Given the description of an element on the screen output the (x, y) to click on. 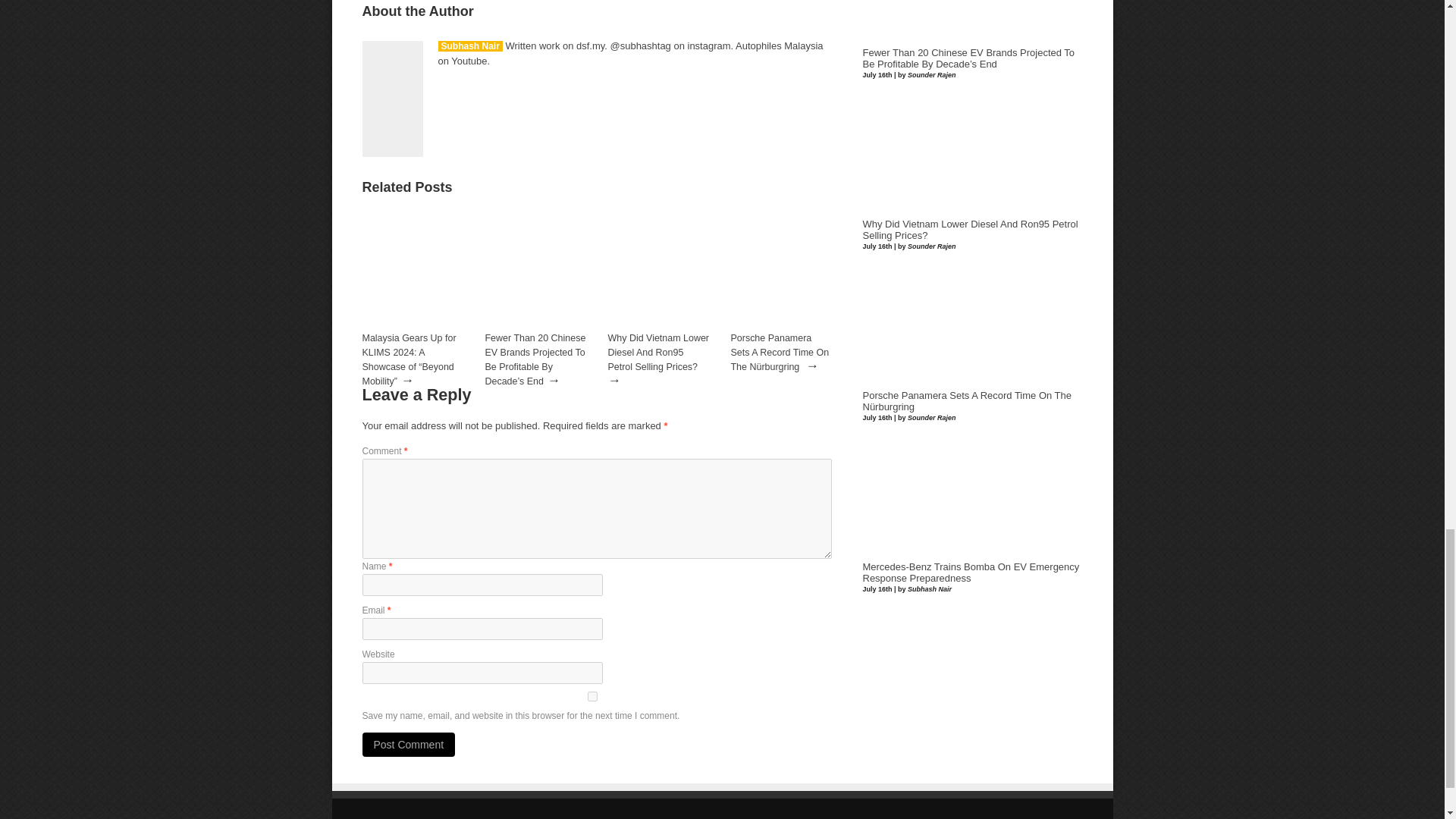
Post Comment (408, 744)
Subhash Nair (470, 45)
Post Comment (408, 744)
Posts by Subhash Nair (470, 45)
yes (593, 696)
